Given the description of an element on the screen output the (x, y) to click on. 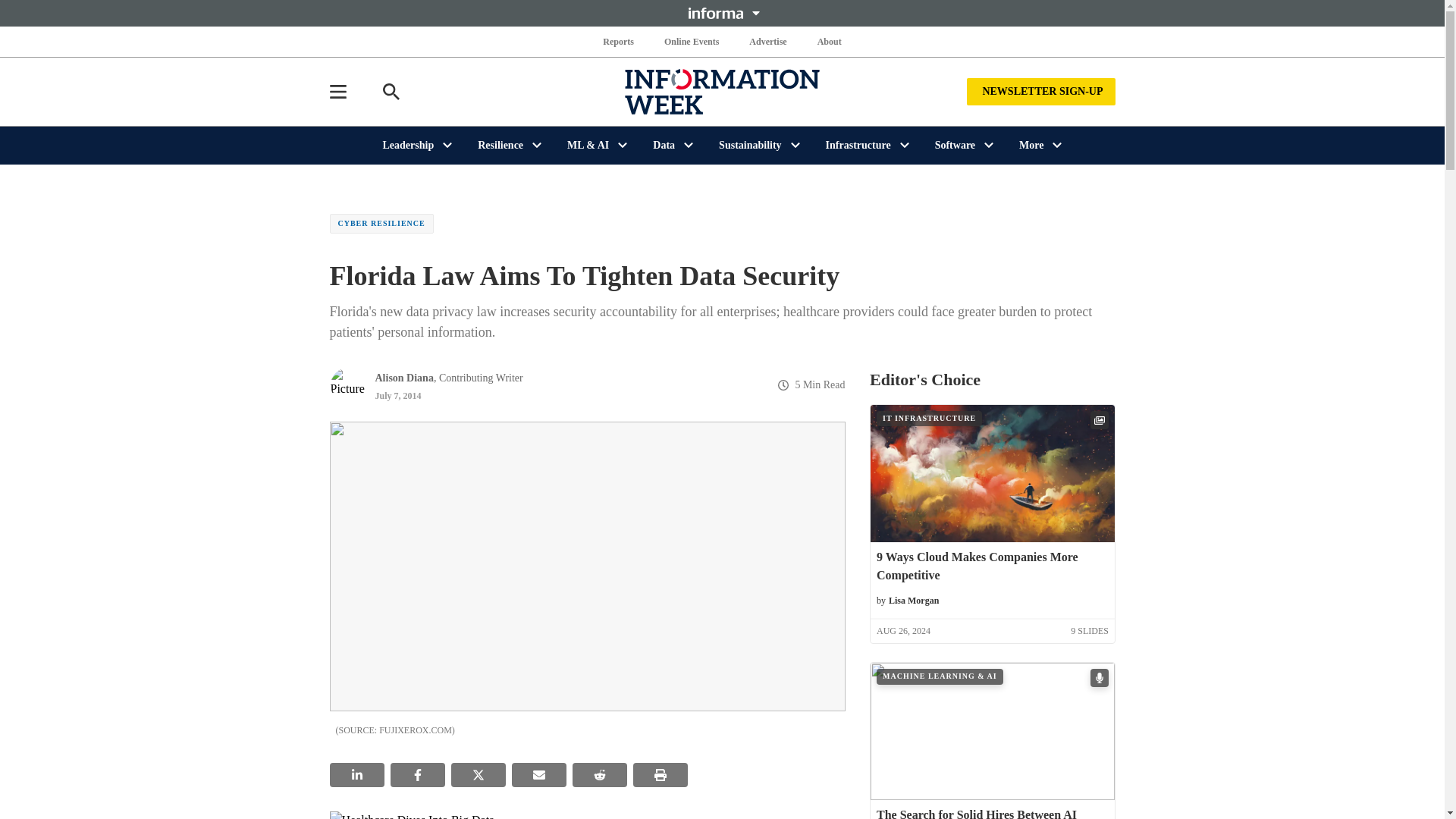
NEWSLETTER SIGN-UP (1040, 90)
Picture of Alison Diana (347, 384)
InformationWeek (722, 91)
Online Events (691, 41)
Reports (618, 41)
About (828, 41)
Advertise (767, 41)
